Given the description of an element on the screen output the (x, y) to click on. 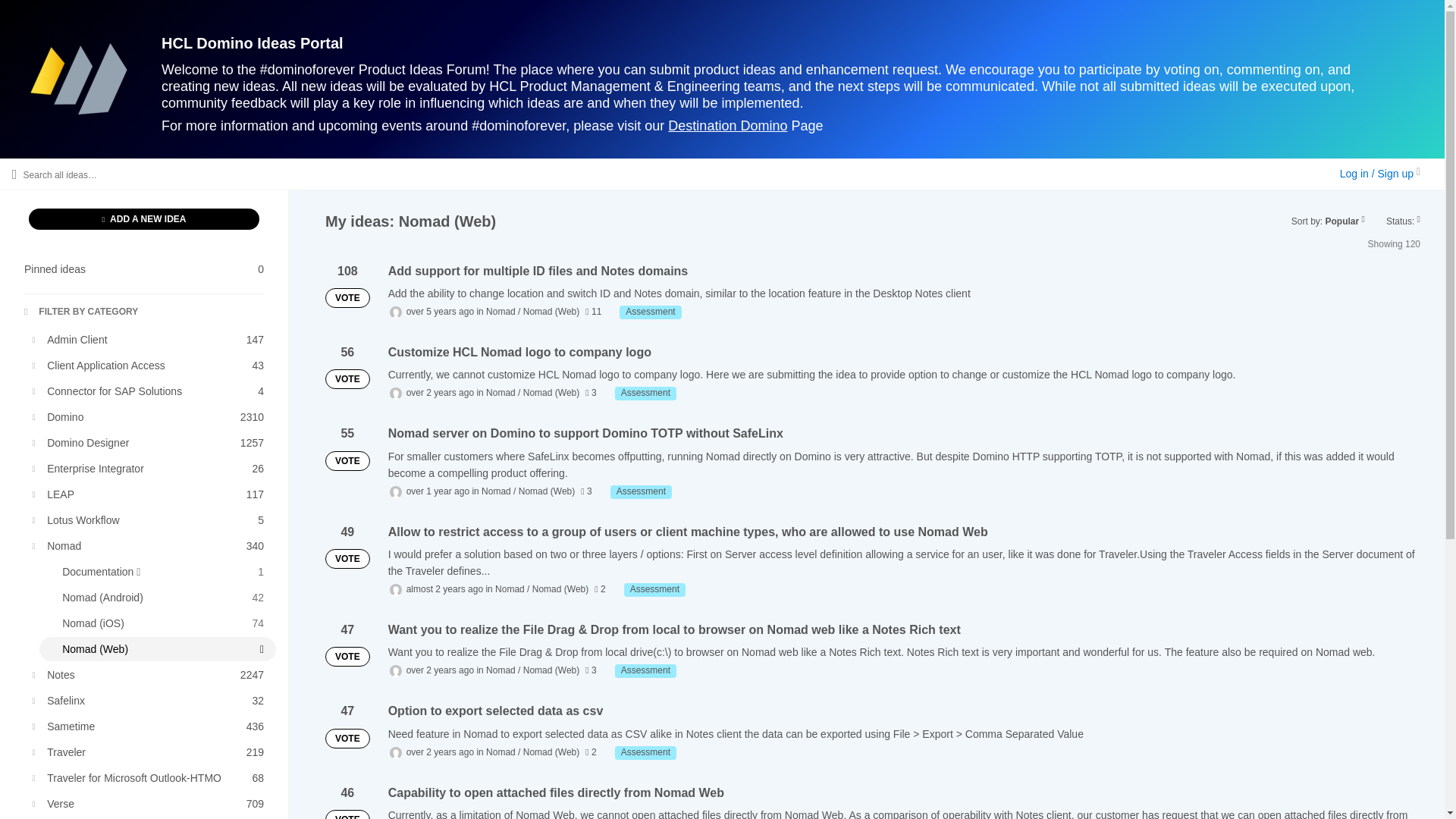
ADD A NEW IDEA (150, 442)
Assessment (150, 391)
FILTER BY CATEGORY (143, 269)
Assessment (150, 364)
Assessment (144, 219)
Destination Domino (150, 339)
Assessment (645, 393)
